Given the description of an element on the screen output the (x, y) to click on. 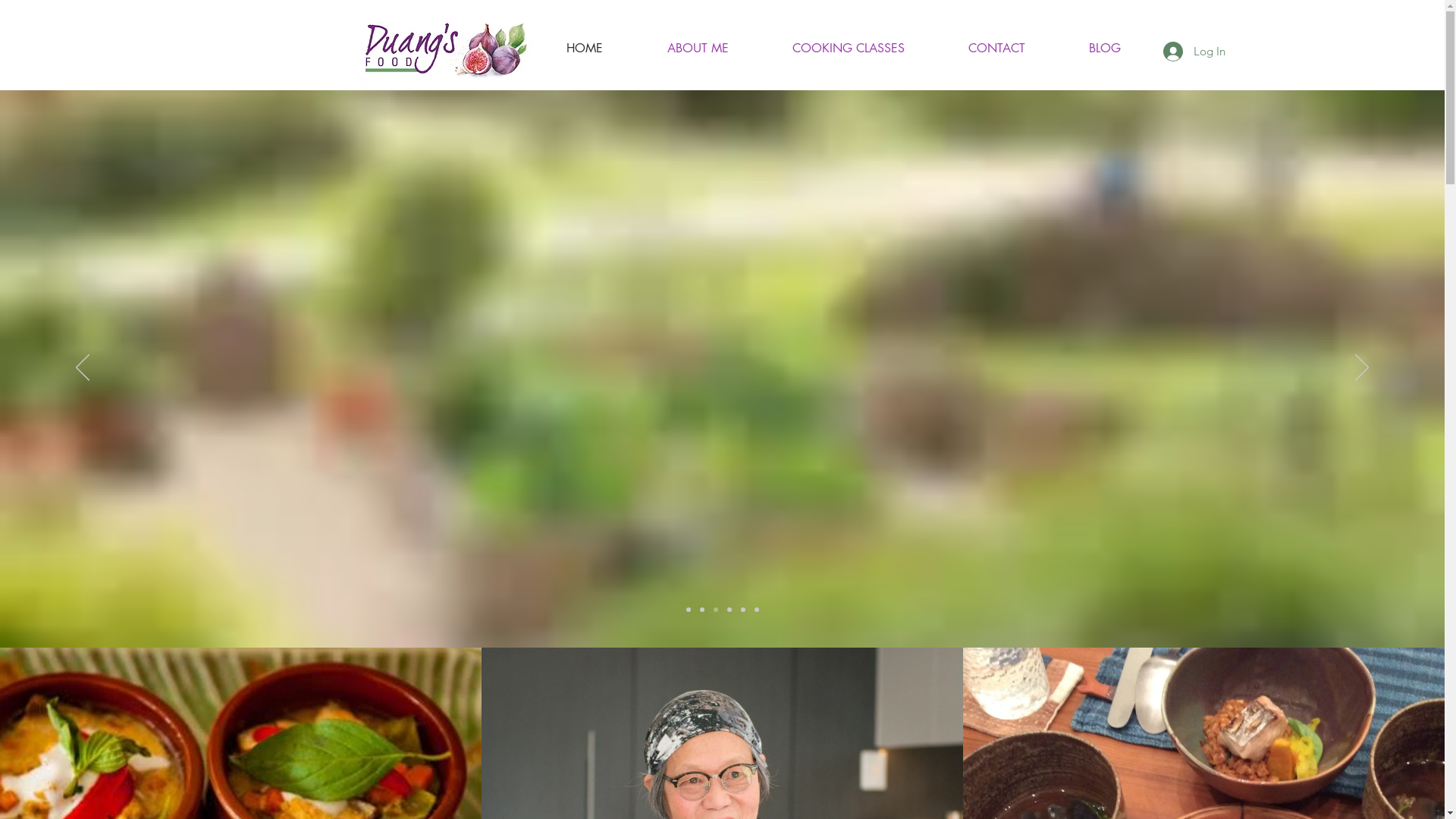
CONTACT Element type: text (995, 50)
CONTACT Element type: text (995, 48)
HOME Element type: text (583, 50)
BLOG Element type: text (1104, 48)
ABOUT ME Element type: text (696, 50)
BLOG Element type: text (1103, 50)
Log In Element type: text (1194, 50)
COOKING CLASSES Element type: text (847, 50)
COOKING CLASSES Element type: text (847, 48)
ABOUT ME Element type: text (697, 48)
HOME Element type: text (583, 48)
